Given the description of an element on the screen output the (x, y) to click on. 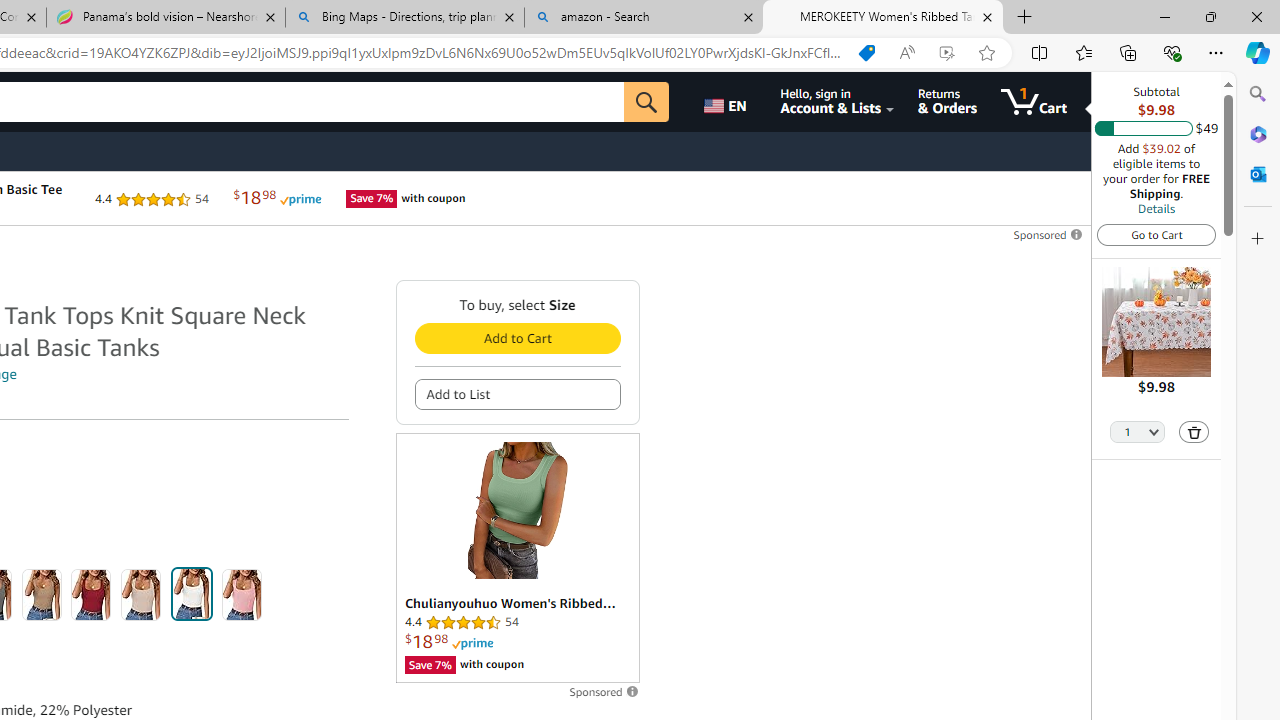
Khaki (41, 594)
Hello, sign in Account & Lists (836, 101)
Prime (472, 643)
Add to Cart (516, 338)
Red (91, 594)
Pink (242, 594)
Delete (1193, 431)
Sponsored ad (516, 557)
Sand (141, 594)
